Given the description of an element on the screen output the (x, y) to click on. 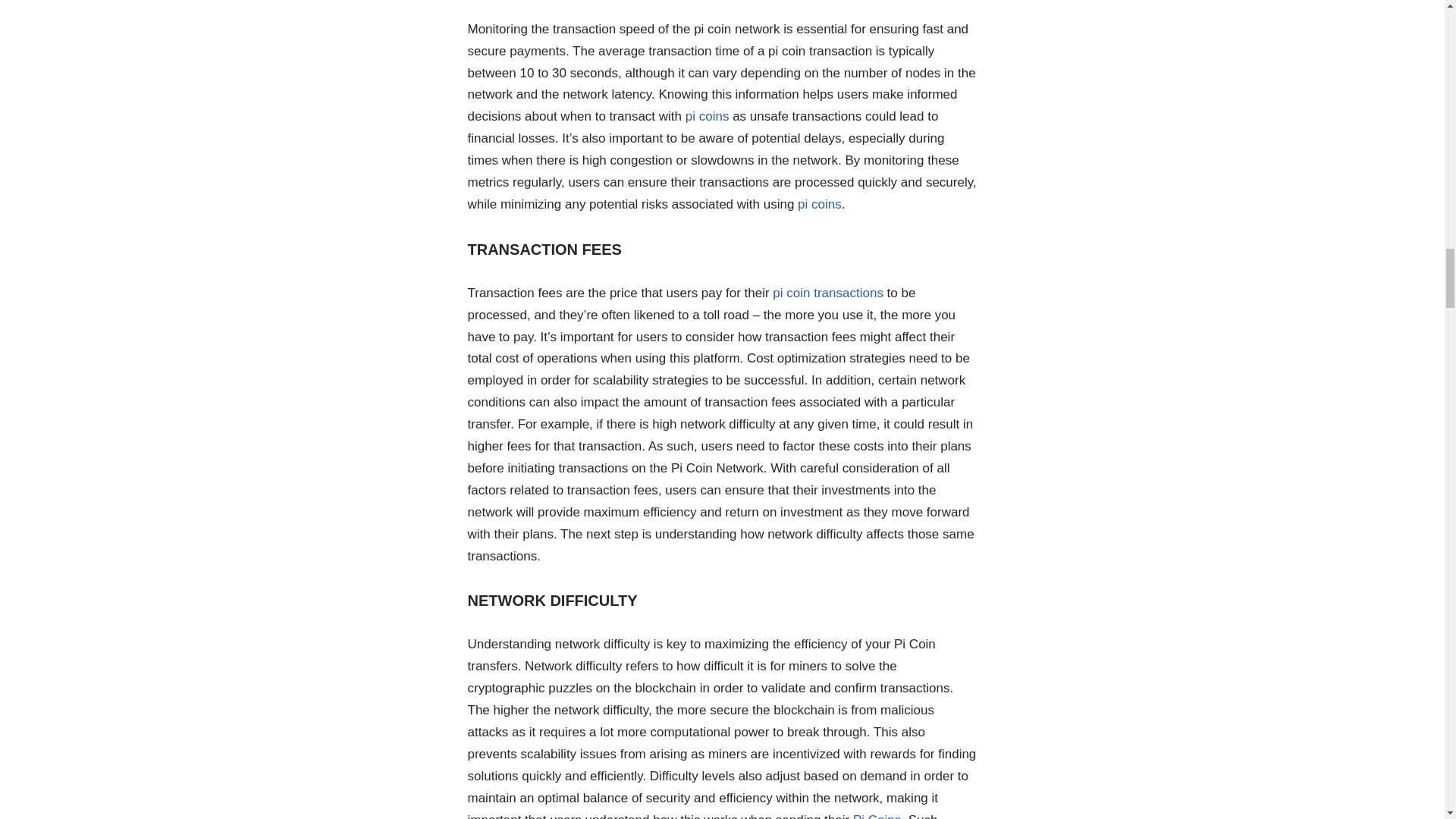
Pi Coins (877, 816)
pi coins (819, 204)
pi coin transactions (828, 292)
Pi Coins (877, 816)
pi coins (819, 204)
pi coins (707, 115)
pi coin transactions (828, 292)
pi coins (707, 115)
